Given the description of an element on the screen output the (x, y) to click on. 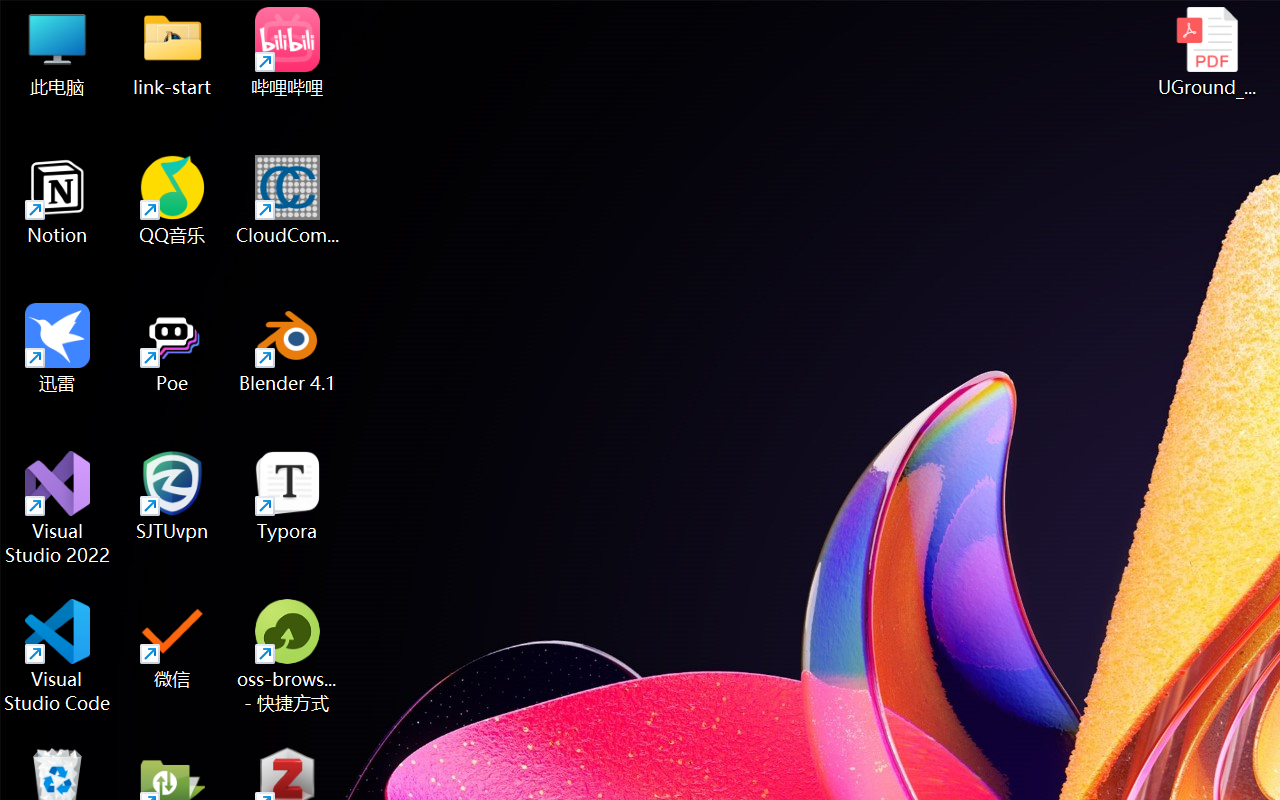
Poe (172, 348)
Blender 4.1 (287, 348)
CloudCompare (287, 200)
Visual Studio Code (57, 656)
Notion (57, 200)
Visual Studio 2022 (57, 508)
SJTUvpn (172, 496)
Typora (287, 496)
UGround_paper.pdf (1206, 52)
